Given the description of an element on the screen output the (x, y) to click on. 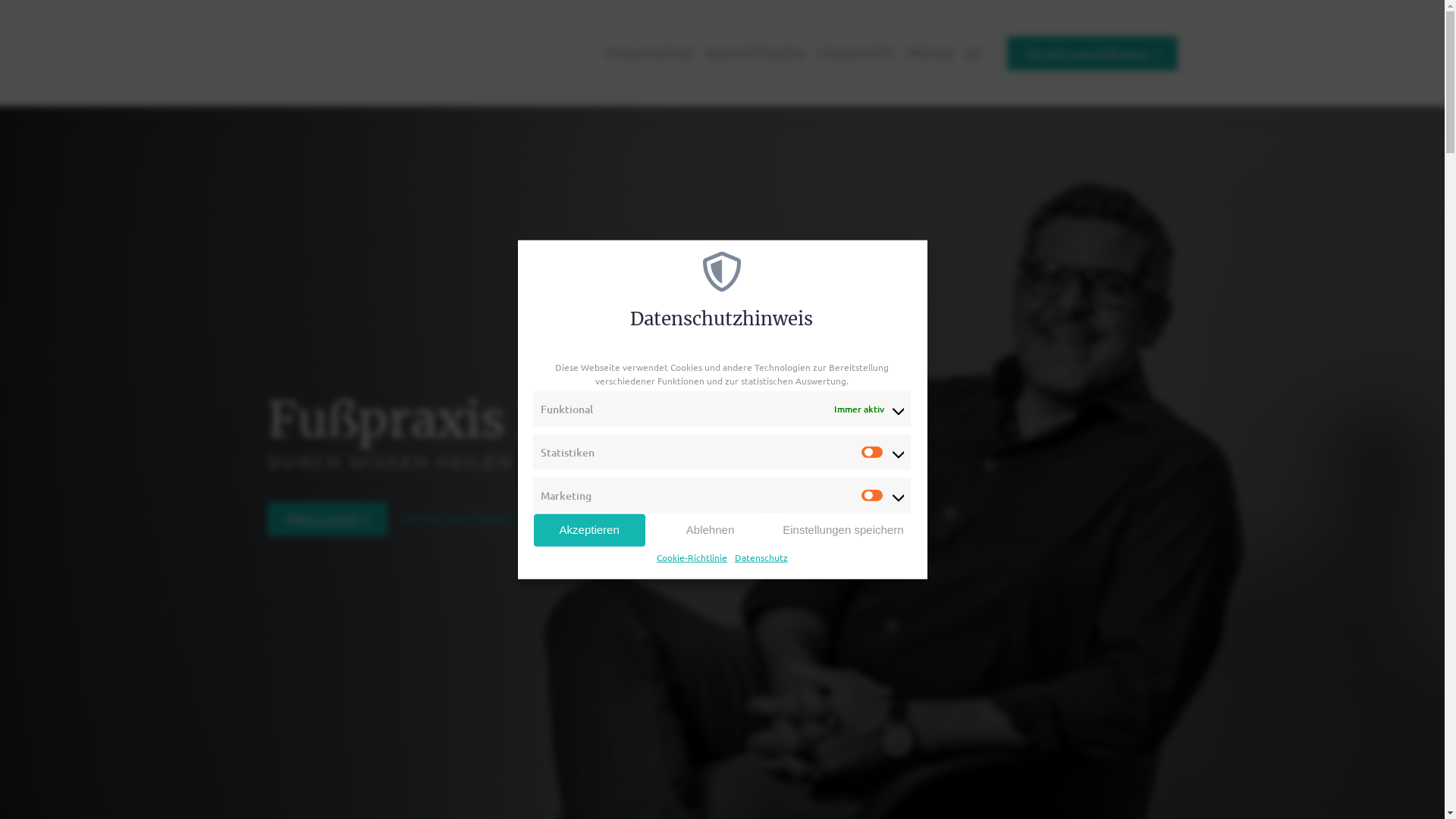
Datenschutz Element type: text (760, 556)
Cookie-Richtlinie Element type: text (691, 556)
KOMPETENZEN Element type: text (755, 53)
Ablehnen Element type: text (709, 529)
Termin vereinbaren Element type: text (1092, 53)
Akzeptieren Element type: text (588, 529)
STANDORTE Element type: text (855, 53)
Termin vereinbaren Element type: text (466, 516)
PRESSE Element type: text (930, 53)
PHILOSOPHIE Element type: text (650, 53)
DE Element type: text (974, 53)
Philosophie Element type: text (326, 519)
Einstellungen speichern Element type: text (842, 529)
